Given the description of an element on the screen output the (x, y) to click on. 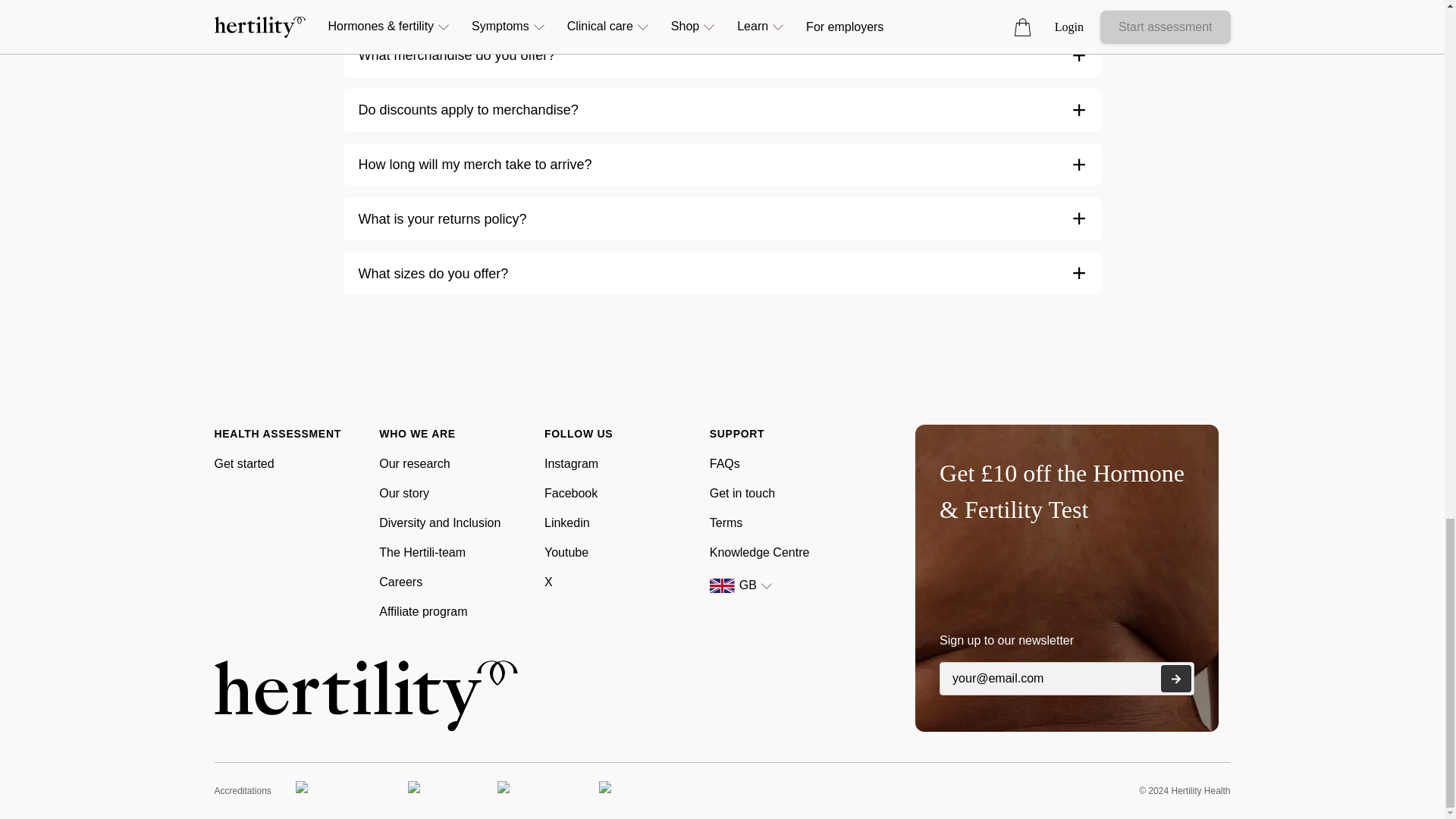
Our research (413, 463)
Instagram (571, 463)
Affiliate program (422, 611)
Submit (1175, 678)
The Hertili-team (421, 552)
Facebook (570, 492)
Get started (243, 463)
Diversity and Inclusion (439, 522)
Our story (403, 492)
Careers (400, 581)
